Given the description of an element on the screen output the (x, y) to click on. 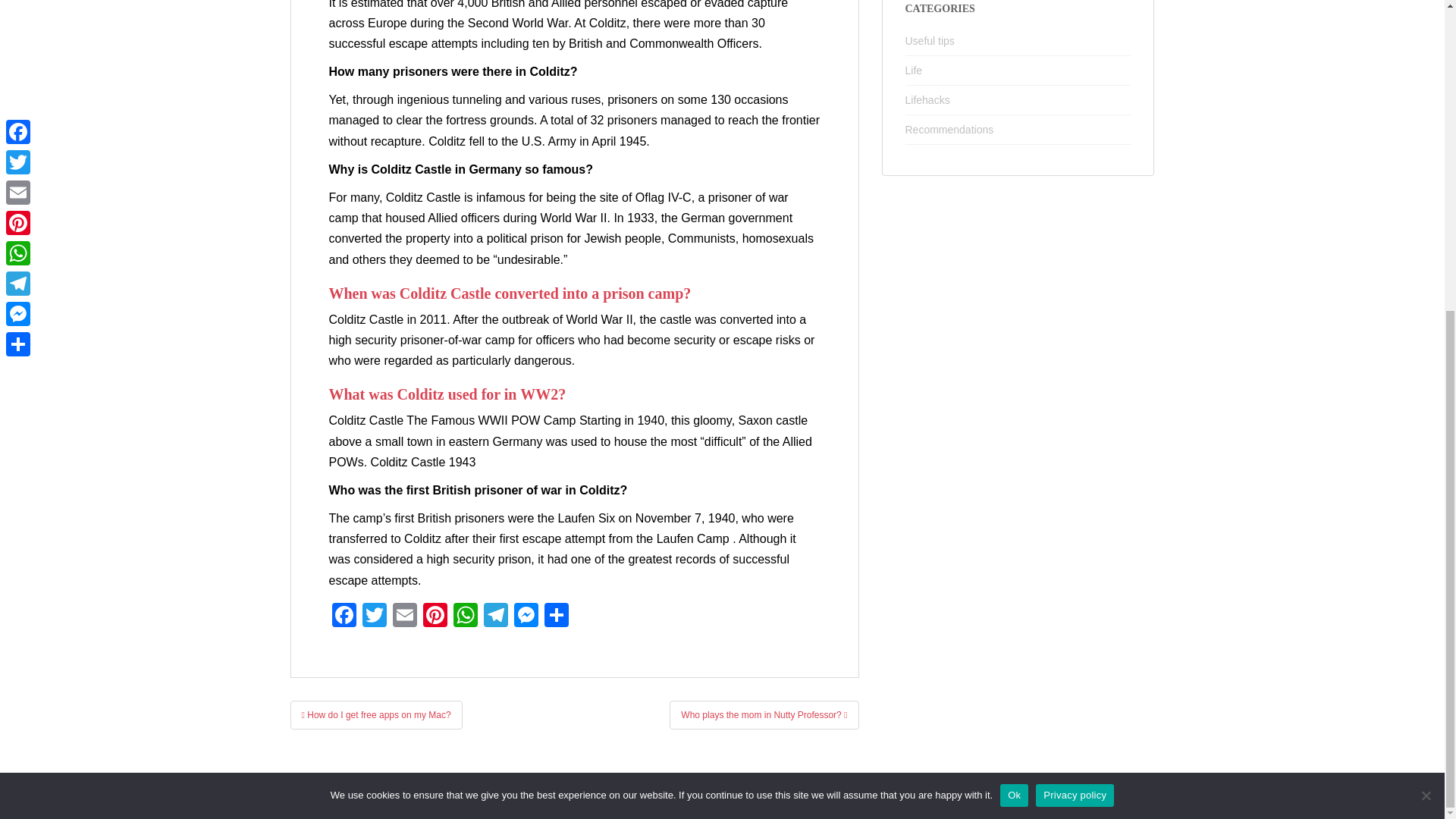
Email (405, 616)
Pinterest (434, 616)
WhatsApp (464, 616)
Useful tips (930, 40)
Facebook (344, 616)
Telegram (495, 616)
Email (405, 616)
Twitter (374, 616)
Twitter (374, 616)
Telegram (495, 616)
Life (914, 70)
How do I get free apps on my Mac? (375, 715)
Messenger (526, 616)
No (1425, 301)
Facebook (344, 616)
